Given the description of an element on the screen output the (x, y) to click on. 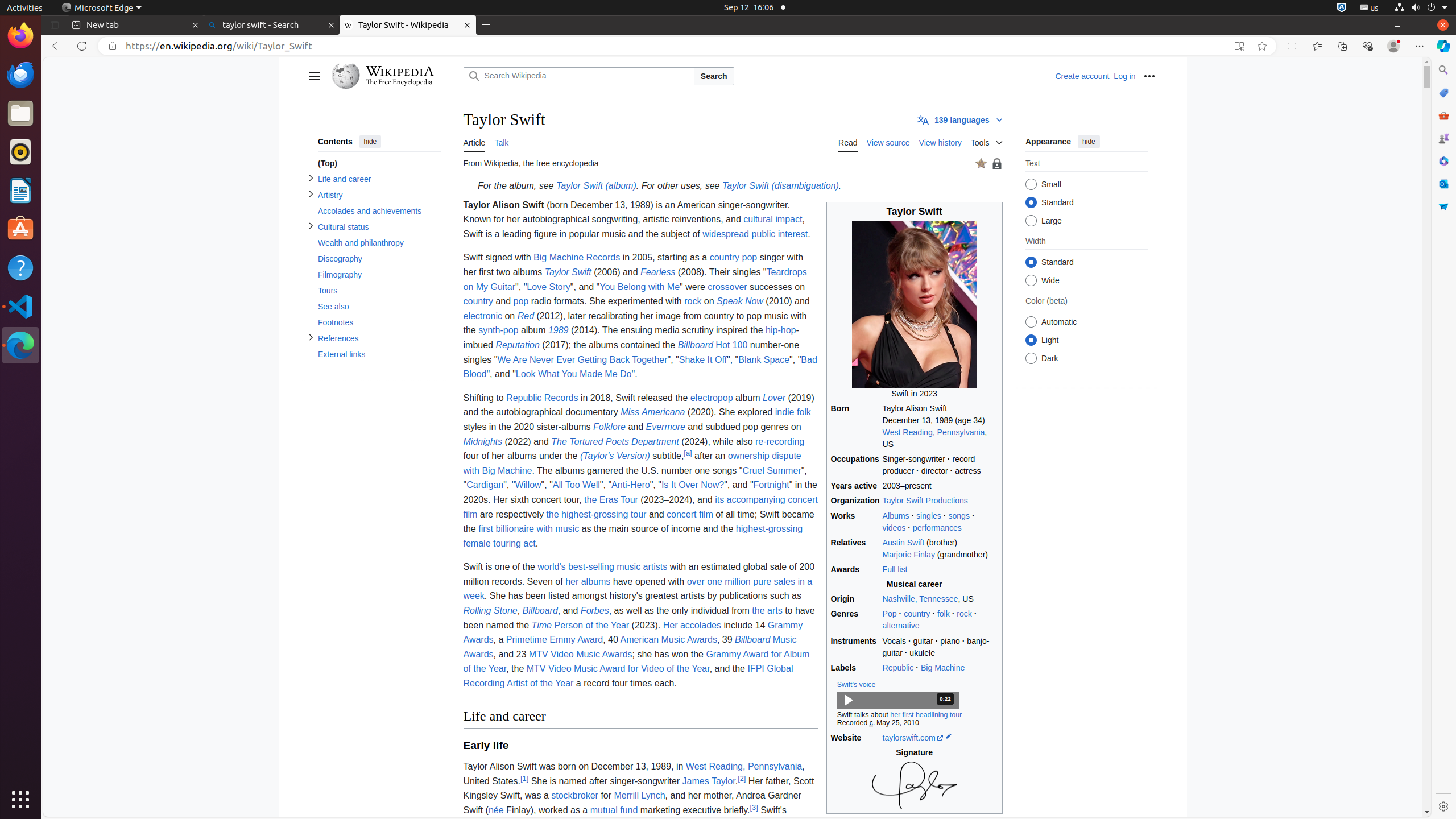
cultural impact Element type: link (772, 219)
1989 Element type: link (557, 330)
Folklore Element type: link (609, 426)
Her accolades Element type: link (691, 624)
Automatic Element type: radio-button (1030, 322)
